Given the description of an element on the screen output the (x, y) to click on. 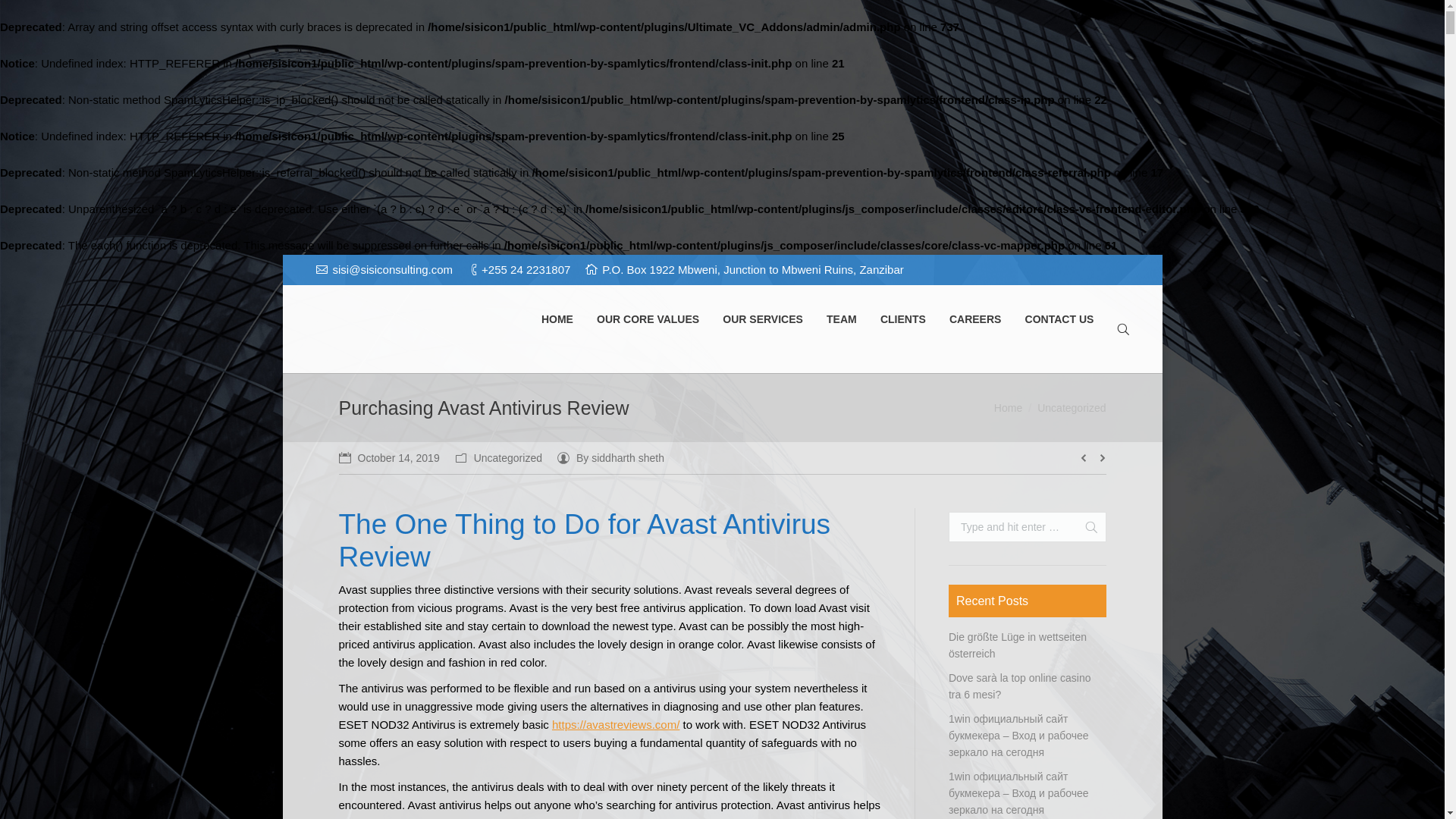
HOME (556, 319)
CAREERS (975, 319)
6:20 pm (388, 457)
View all posts by siddharth sheth (610, 457)
OUR CORE VALUES (647, 319)
Uncategorized (1070, 408)
Go! (17, 12)
Uncategorized (507, 458)
Go! (1085, 526)
TEAM (841, 319)
